Given the description of an element on the screen output the (x, y) to click on. 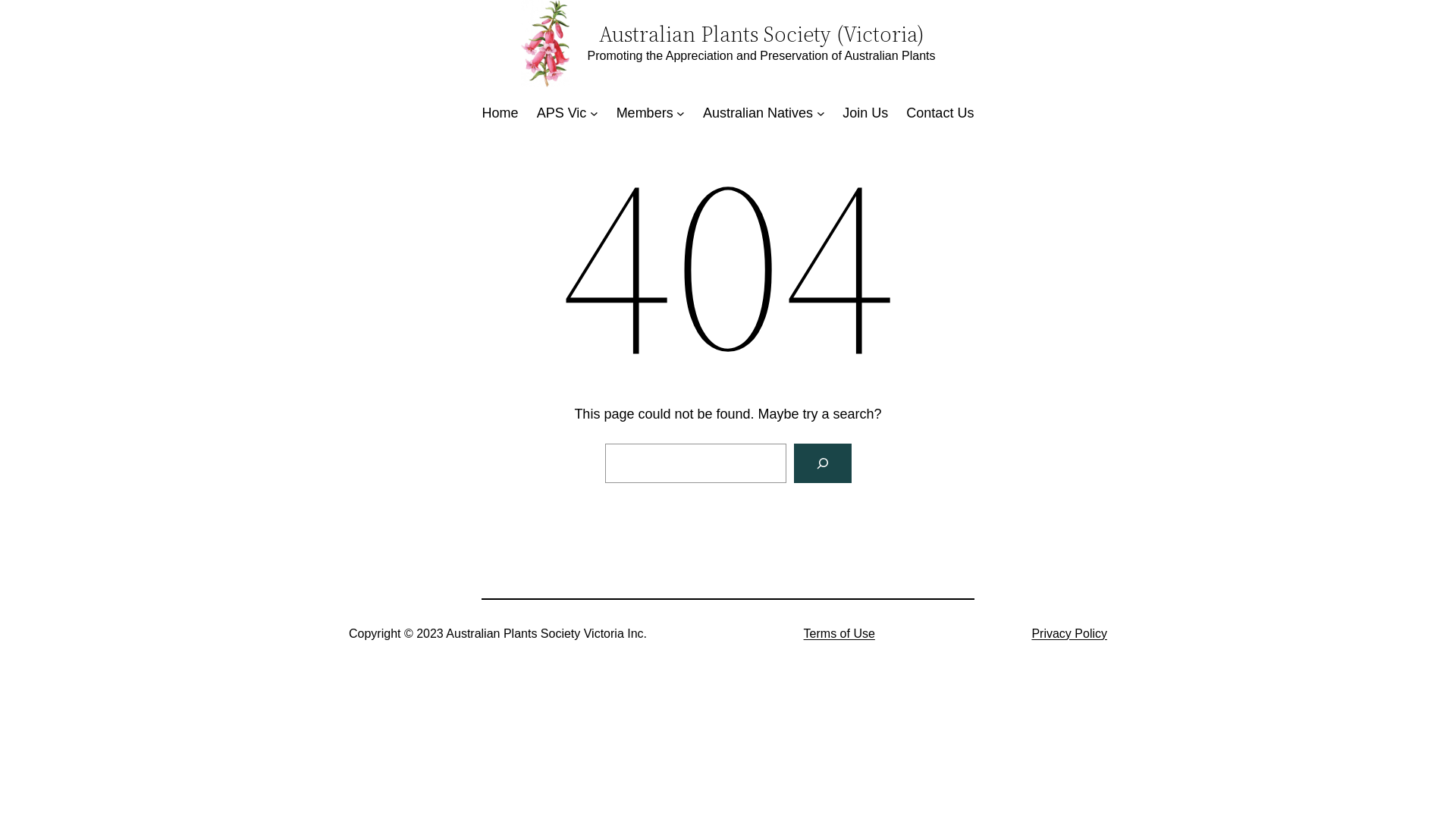
Privacy Policy Element type: text (1069, 633)
Join Us Element type: text (865, 113)
Contact Us Element type: text (939, 113)
Home Element type: text (500, 113)
Terms of Use Element type: text (839, 633)
Australian Natives Element type: text (757, 113)
APS Vic Element type: text (561, 113)
Members Element type: text (644, 113)
